Given the description of an element on the screen output the (x, y) to click on. 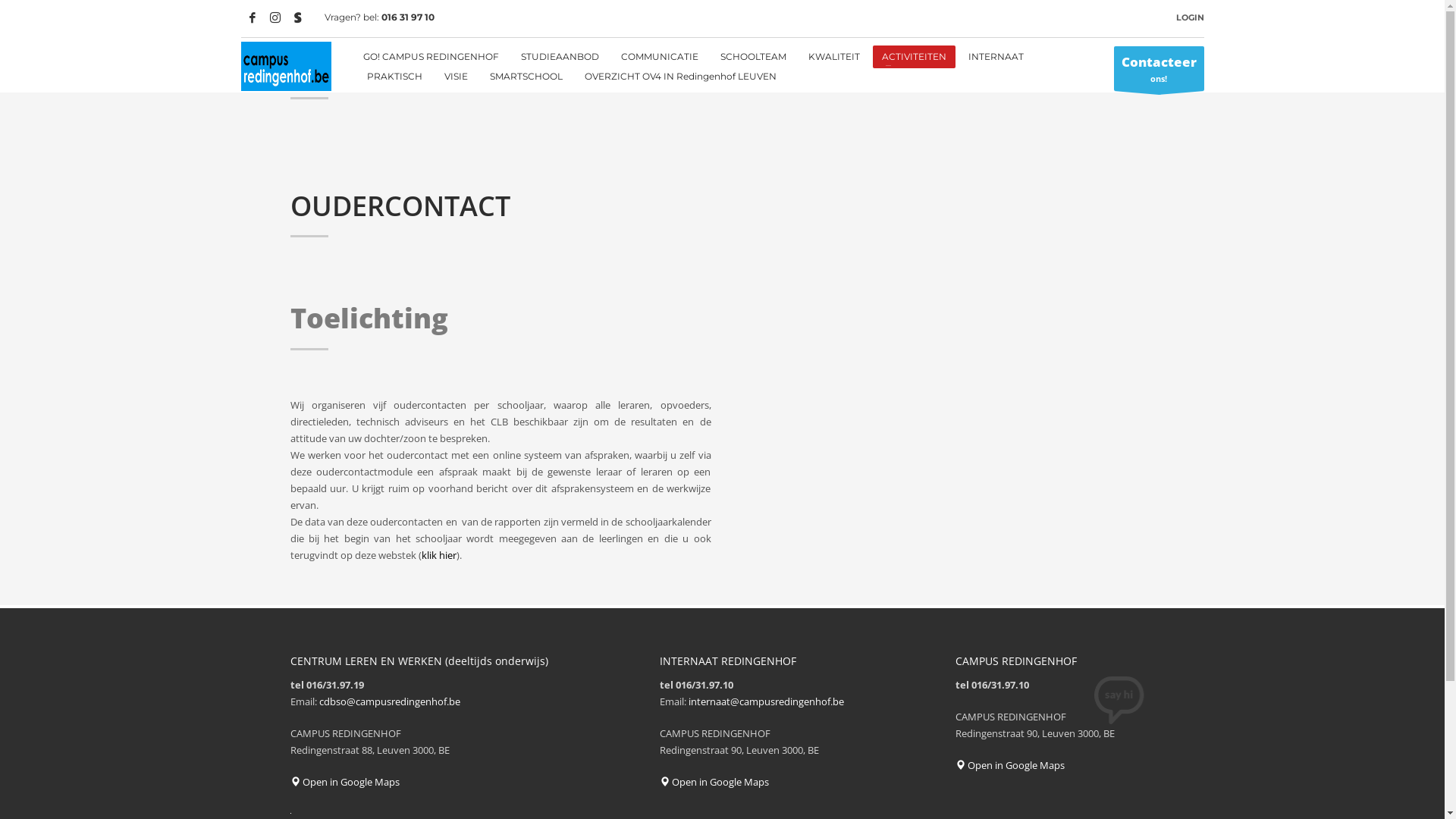
KWALITEIT Element type: text (834, 56)
SCHOOLTEAM Element type: text (753, 56)
STUDIEAANBOD Element type: text (559, 56)
COMMUNICATIE Element type: text (659, 56)
cdbso@campusredingenhof.be Element type: text (388, 701)
internaat@campusredingenhof.be Element type: text (766, 701)
Facebook Element type: hover (252, 17)
LOGIN Element type: text (1189, 17)
Smartschool Element type: hover (297, 17)
SMARTSCHOOL Element type: text (525, 76)
klik hier Element type: text (438, 554)
OVERZICHT OV4 IN Redingenhof LEUVEN Element type: text (680, 76)
GO! Campus Redingenhof Leuven Element type: hover (286, 66)
GO! CAMPUS REDINGENHOF Element type: text (431, 56)
PRAKTISCH Element type: text (394, 76)
ACTIVITEITEN Element type: text (913, 56)
Open in Google Maps Element type: text (343, 781)
INTERNAAT Element type: text (995, 56)
VISIE Element type: text (455, 76)
Instagram Element type: hover (274, 17)
SiteLock Element type: hover (289, 812)
Open in Google Maps Element type: text (713, 781)
016 31 97 10 Element type: text (406, 16)
Open in Google Maps Element type: text (1009, 764)
Contacteer
ons! Element type: text (1158, 67)
